Given the description of an element on the screen output the (x, y) to click on. 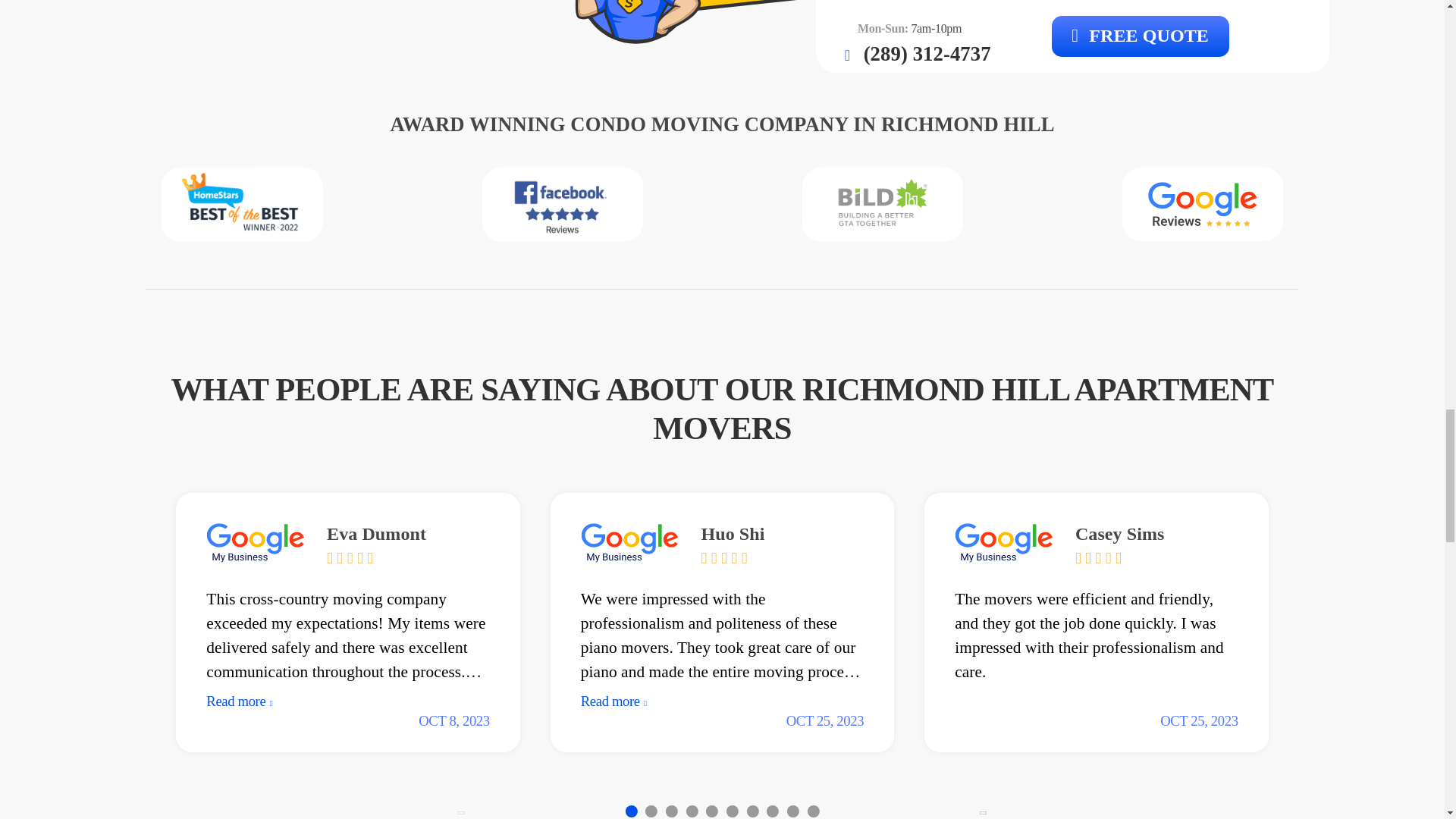
Read more (721, 701)
Read more (347, 701)
